Given the description of an element on the screen output the (x, y) to click on. 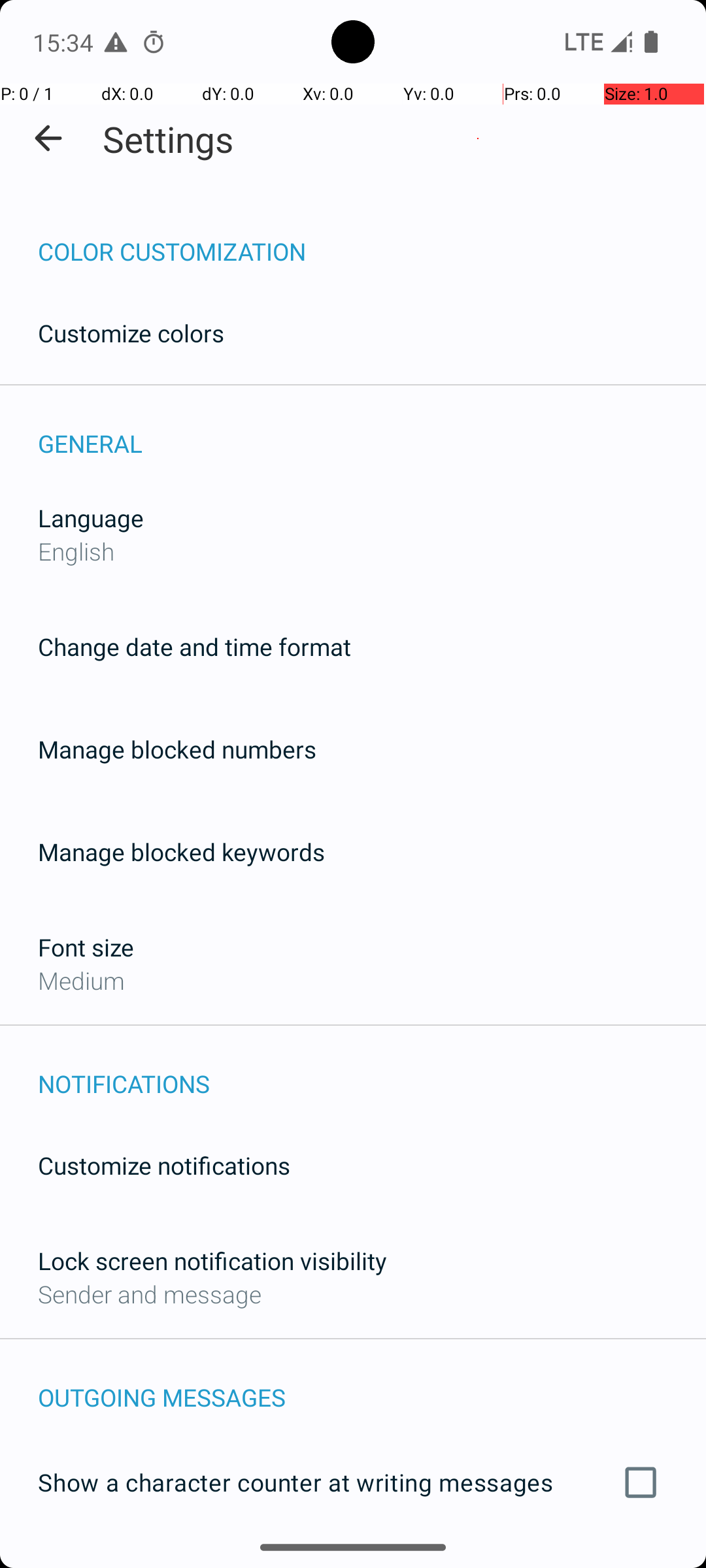
NOTIFICATIONS Element type: android.widget.TextView (371, 1069)
OUTGOING MESSAGES Element type: android.widget.TextView (371, 1383)
Change date and time format Element type: android.widget.TextView (194, 646)
Manage blocked numbers Element type: android.widget.TextView (176, 748)
Manage blocked keywords Element type: android.widget.TextView (180, 851)
Font size Element type: android.widget.TextView (85, 946)
Medium Element type: android.widget.TextView (80, 979)
Lock screen notification visibility Element type: android.widget.TextView (211, 1260)
Sender and message Element type: android.widget.TextView (149, 1293)
Show a character counter at writing messages Element type: android.widget.CheckBox (352, 1482)
Remove accents and diacritics at sending messages Element type: android.widget.CheckBox (352, 1559)
